Given the description of an element on the screen output the (x, y) to click on. 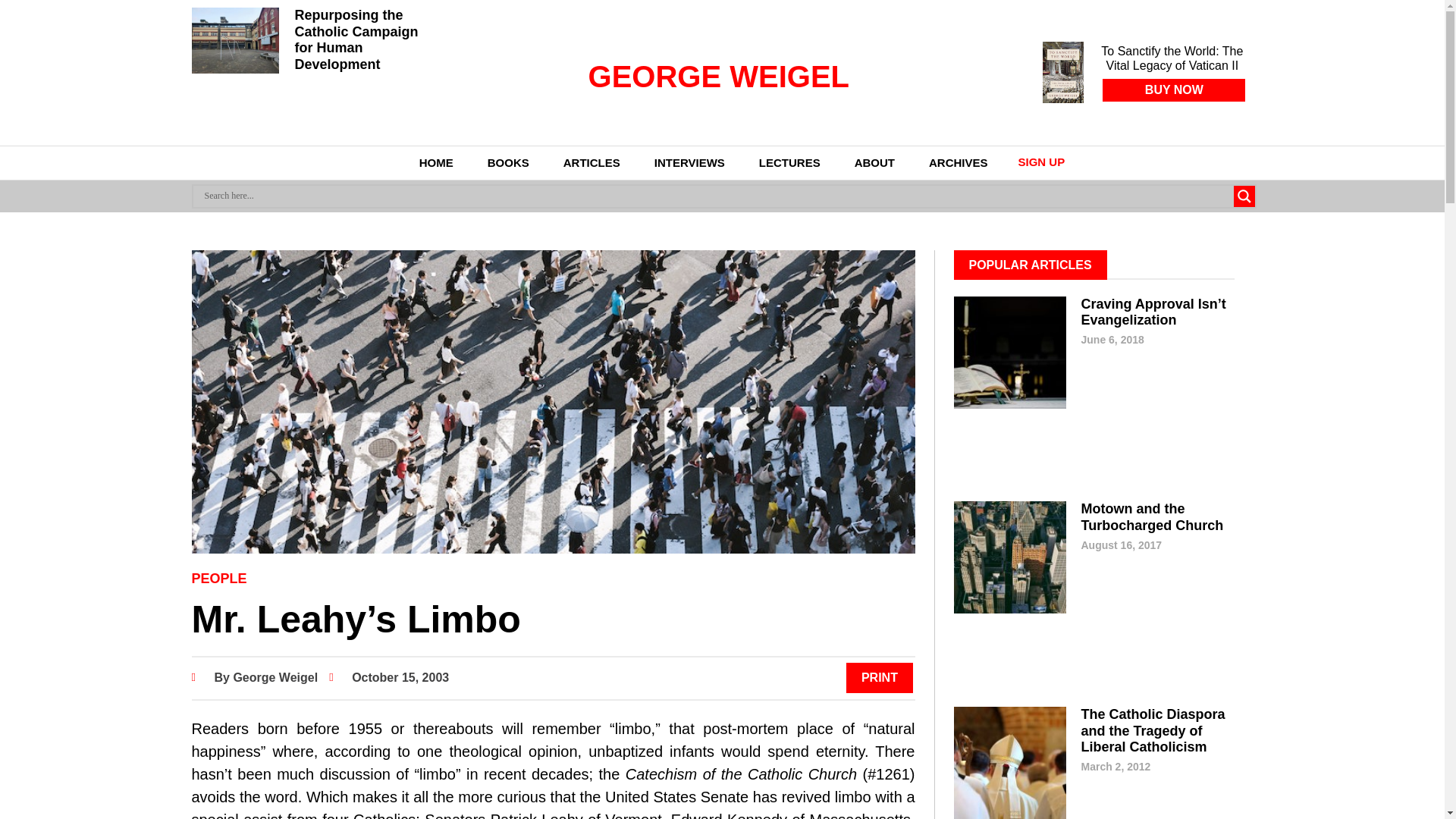
Repurposing the Catholic Campaign for Human Development (355, 39)
GEORGE WEIGEL (718, 76)
BUY NOW (1173, 89)
